Given the description of an element on the screen output the (x, y) to click on. 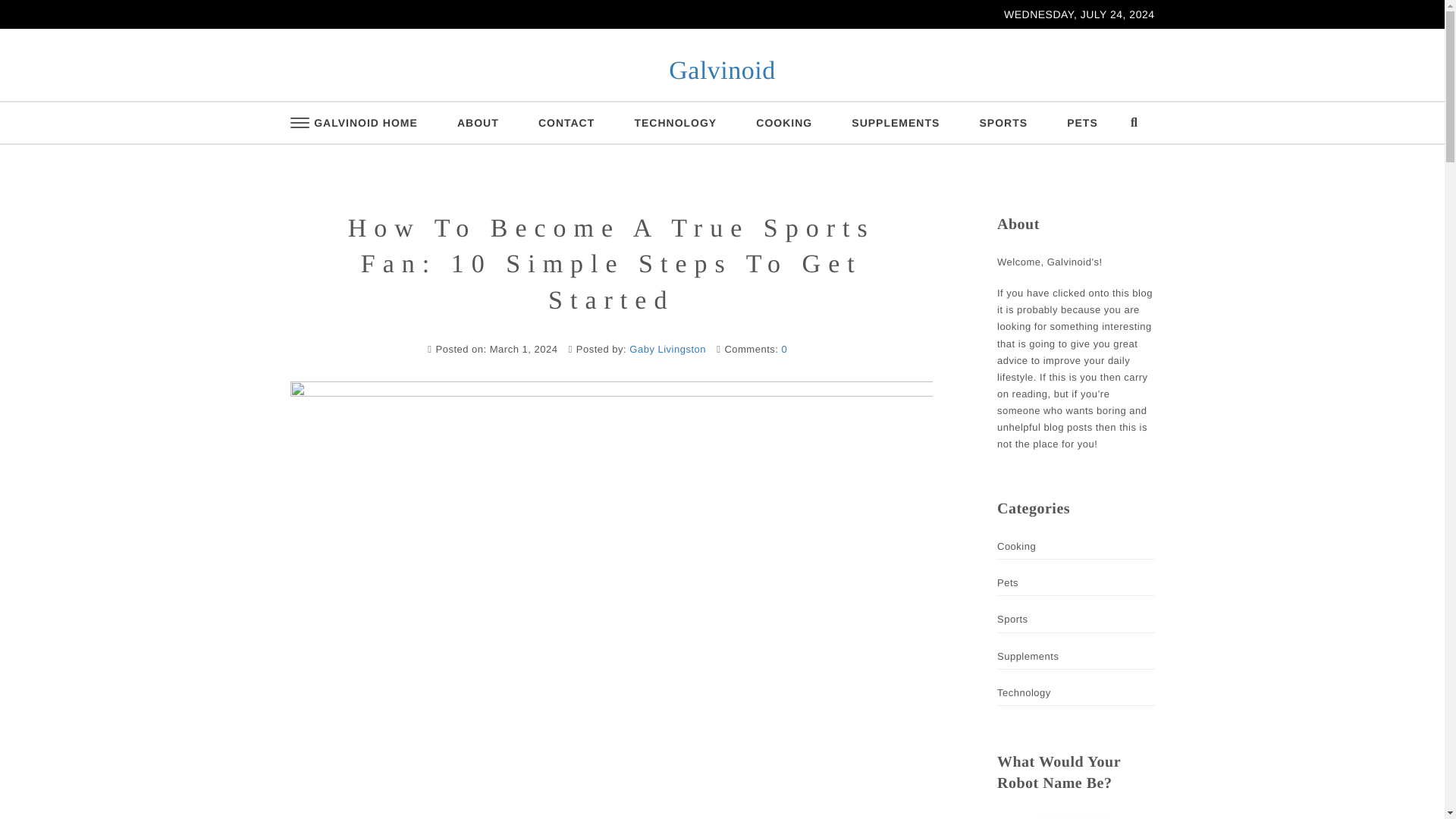
SUPPLEMENTS (895, 122)
Pets (1007, 582)
Galvinoid (721, 71)
COOKING (783, 122)
ABOUT (477, 122)
TECHNOLOGY (675, 122)
SPORTS (1002, 122)
Sports (1012, 619)
Cooking (1016, 546)
Technology (1024, 692)
Supplements (1027, 655)
GALVINOID HOME (365, 122)
CONTACT (565, 122)
PETS (1082, 122)
